Given the description of an element on the screen output the (x, y) to click on. 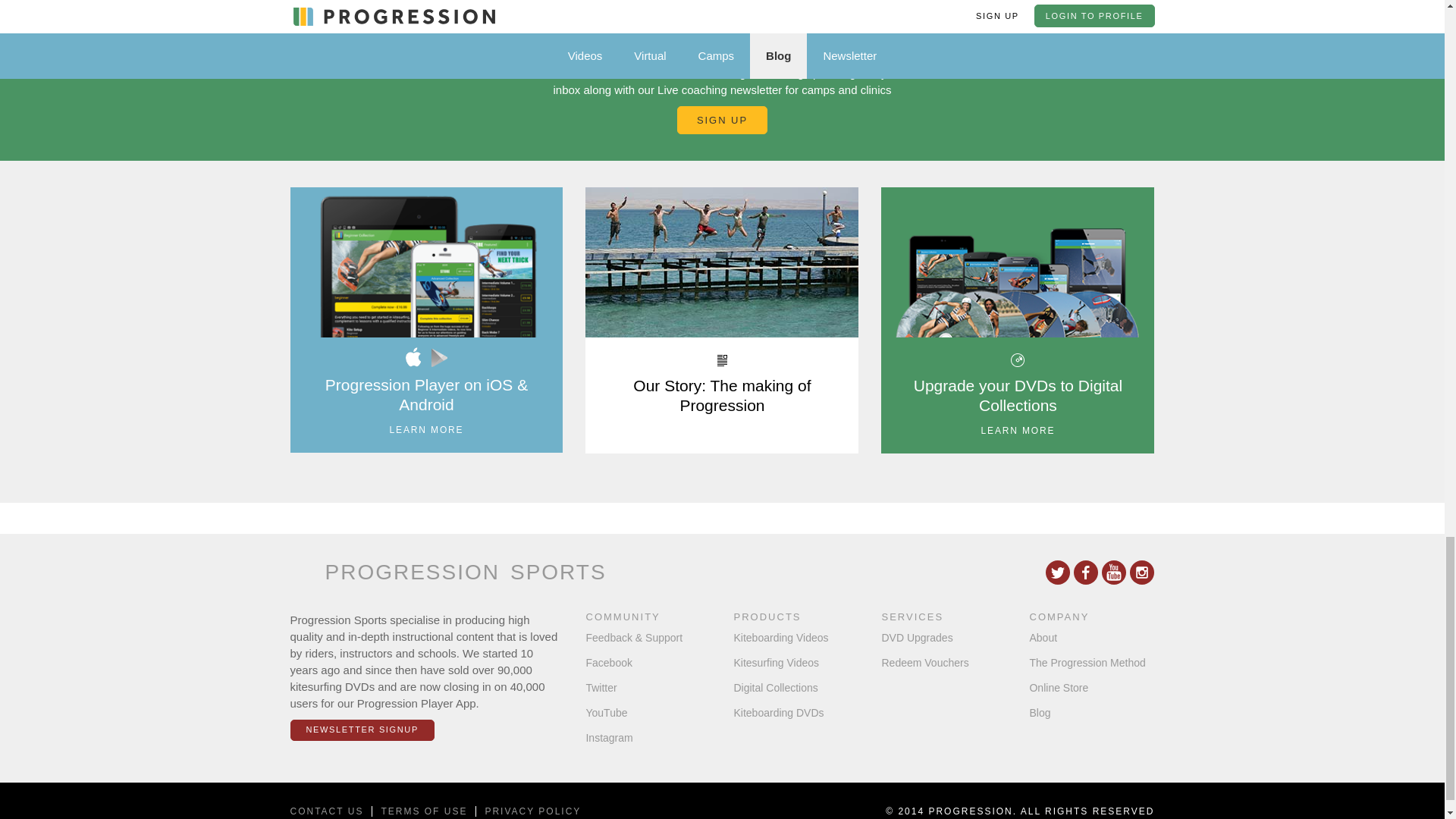
SIGN UP (722, 120)
